Given the description of an element on the screen output the (x, y) to click on. 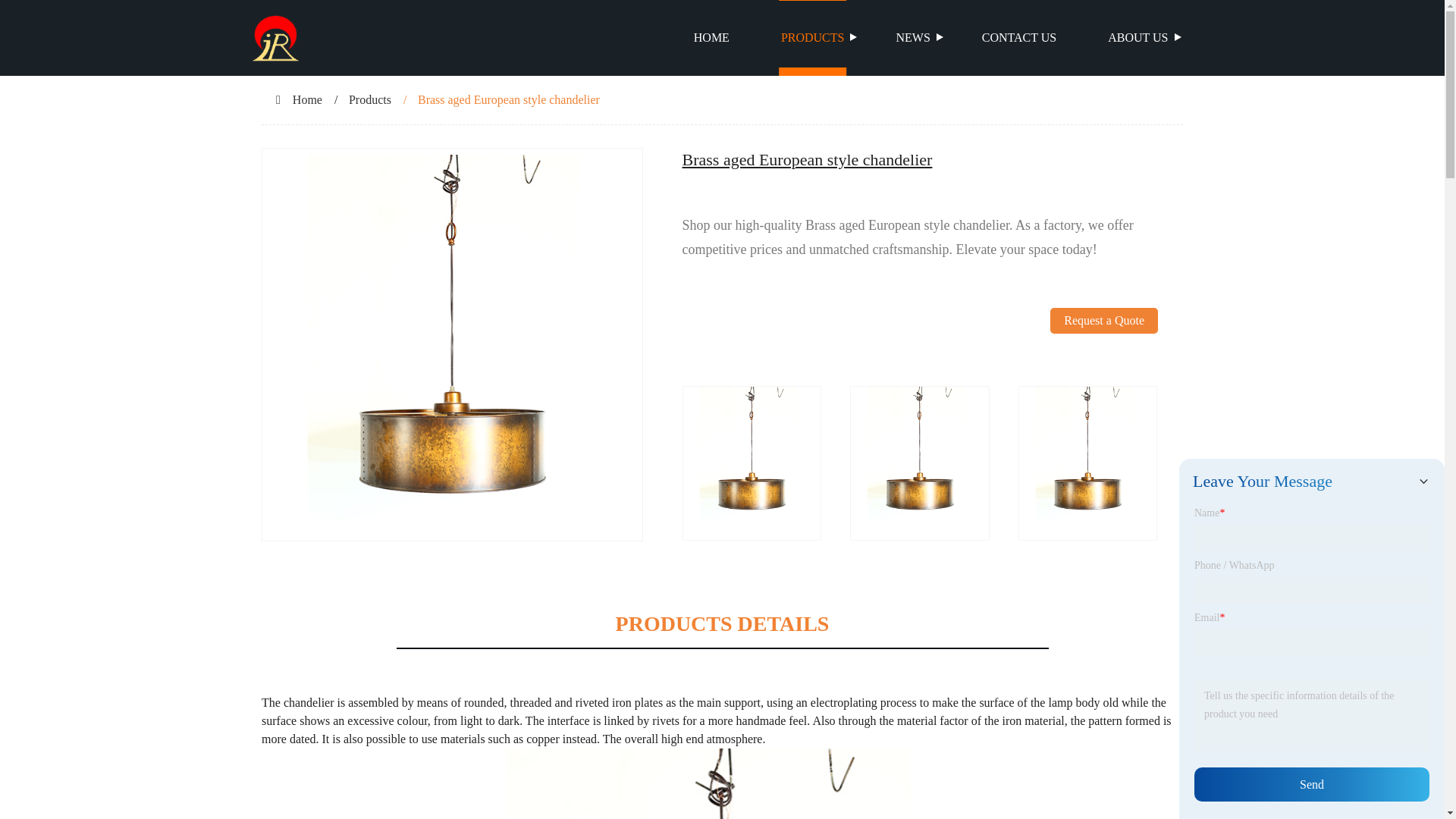
Products (370, 99)
PRODUCTS (812, 38)
Home (306, 99)
CONTACT US (1018, 38)
Request a Quote (1103, 346)
